Given the description of an element on the screen output the (x, y) to click on. 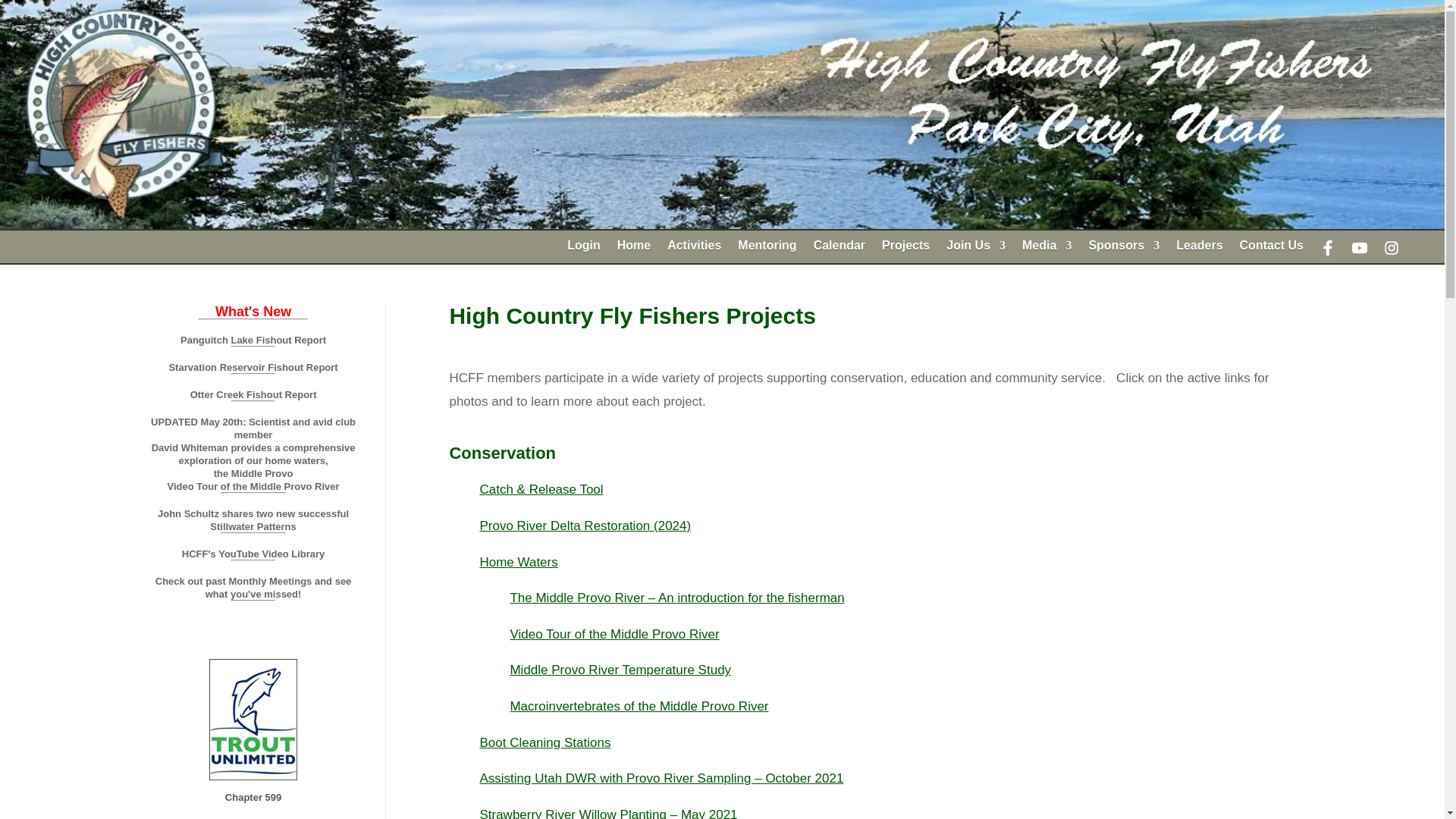
Media (1046, 251)
Home (633, 251)
Contact Us (1271, 251)
Projects (906, 251)
Sponsors (1122, 251)
Video Tour (614, 634)
Activities (693, 251)
Temperature Study (619, 669)
Macroinvertebrates of the Middle Provo River (638, 706)
Mentoring (767, 251)
